Given the description of an element on the screen output the (x, y) to click on. 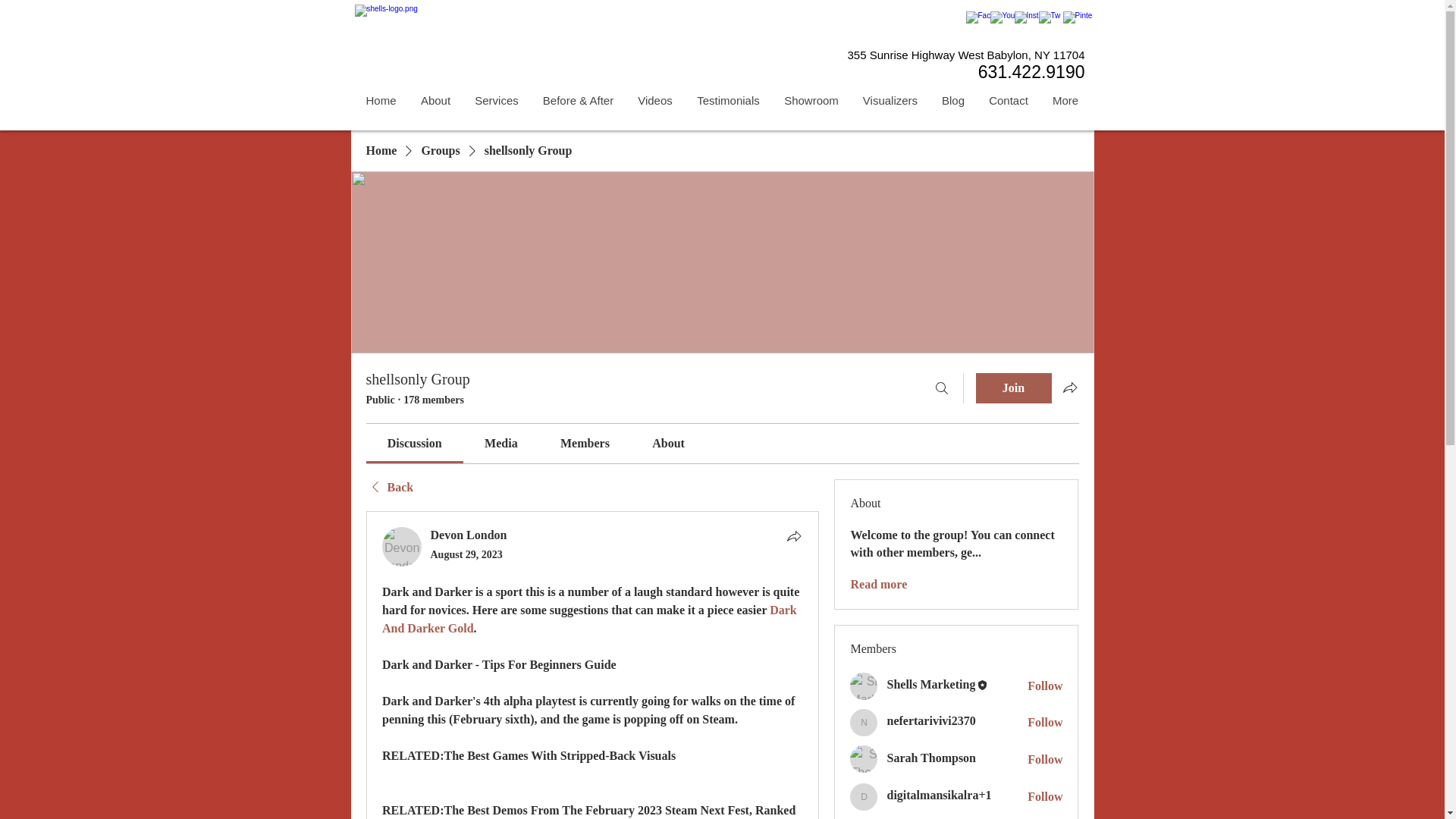
Testimonials (727, 100)
Call Us (899, 65)
About (434, 100)
Blog (953, 100)
Home (380, 100)
631.422.9190 (1031, 73)
nefertarivivi2370 (863, 722)
Groups (440, 150)
Devon London (401, 546)
Sarah Thompson (863, 759)
